Given the description of an element on the screen output the (x, y) to click on. 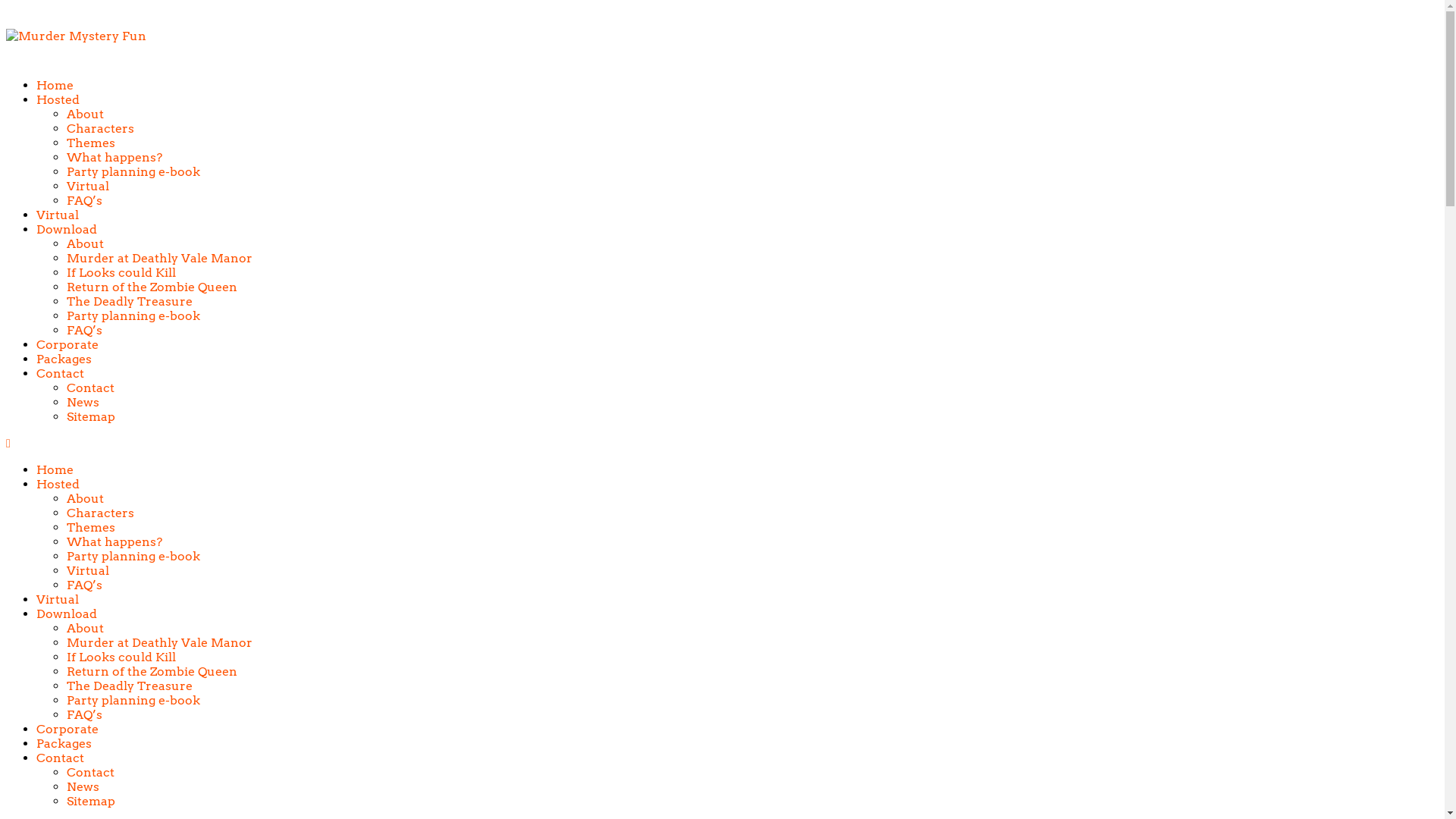
Contact Element type: text (90, 772)
Virtual Element type: text (87, 570)
The Deadly Treasure Element type: text (129, 685)
Themes Element type: text (90, 142)
Murder at Deathly Vale Manor Element type: text (159, 258)
Hosted Element type: text (57, 483)
About Element type: text (84, 243)
If Looks could Kill Element type: text (120, 272)
Virtual Element type: text (57, 214)
About Element type: text (84, 113)
About Element type: text (84, 498)
Characters Element type: text (100, 128)
Party planning e-book Element type: text (133, 315)
Return of the Zombie Queen Element type: text (151, 286)
Corporate Element type: text (67, 344)
If Looks could Kill Element type: text (120, 656)
News Element type: text (82, 786)
Murder at Deathly Vale Manor Element type: text (159, 642)
Download Element type: text (66, 613)
Contact Element type: text (60, 373)
The Deadly Treasure Element type: text (129, 301)
Corporate Element type: text (67, 728)
Packages Element type: text (63, 358)
Party planning e-book Element type: text (133, 700)
Party planning e-book Element type: text (133, 556)
Home Element type: text (54, 85)
Packages Element type: text (63, 743)
What happens? Element type: text (114, 541)
What happens? Element type: text (114, 157)
Themes Element type: text (90, 527)
Home Element type: text (54, 469)
Download Element type: text (66, 229)
News Element type: text (82, 402)
Sitemap Element type: text (90, 800)
Return of the Zombie Queen Element type: text (151, 671)
Virtual Element type: text (87, 185)
Murder Mystery Fun Element type: hover (76, 35)
Contact Element type: text (60, 757)
Party planning e-book Element type: text (133, 171)
Sitemap Element type: text (90, 416)
Characters Element type: text (100, 512)
Contact Element type: text (90, 387)
About Element type: text (84, 628)
Hosted Element type: text (57, 99)
  Element type: text (9, 443)
Murder Mystery Fun Element type: hover (76, 35)
Virtual Element type: text (57, 599)
